Given the description of an element on the screen output the (x, y) to click on. 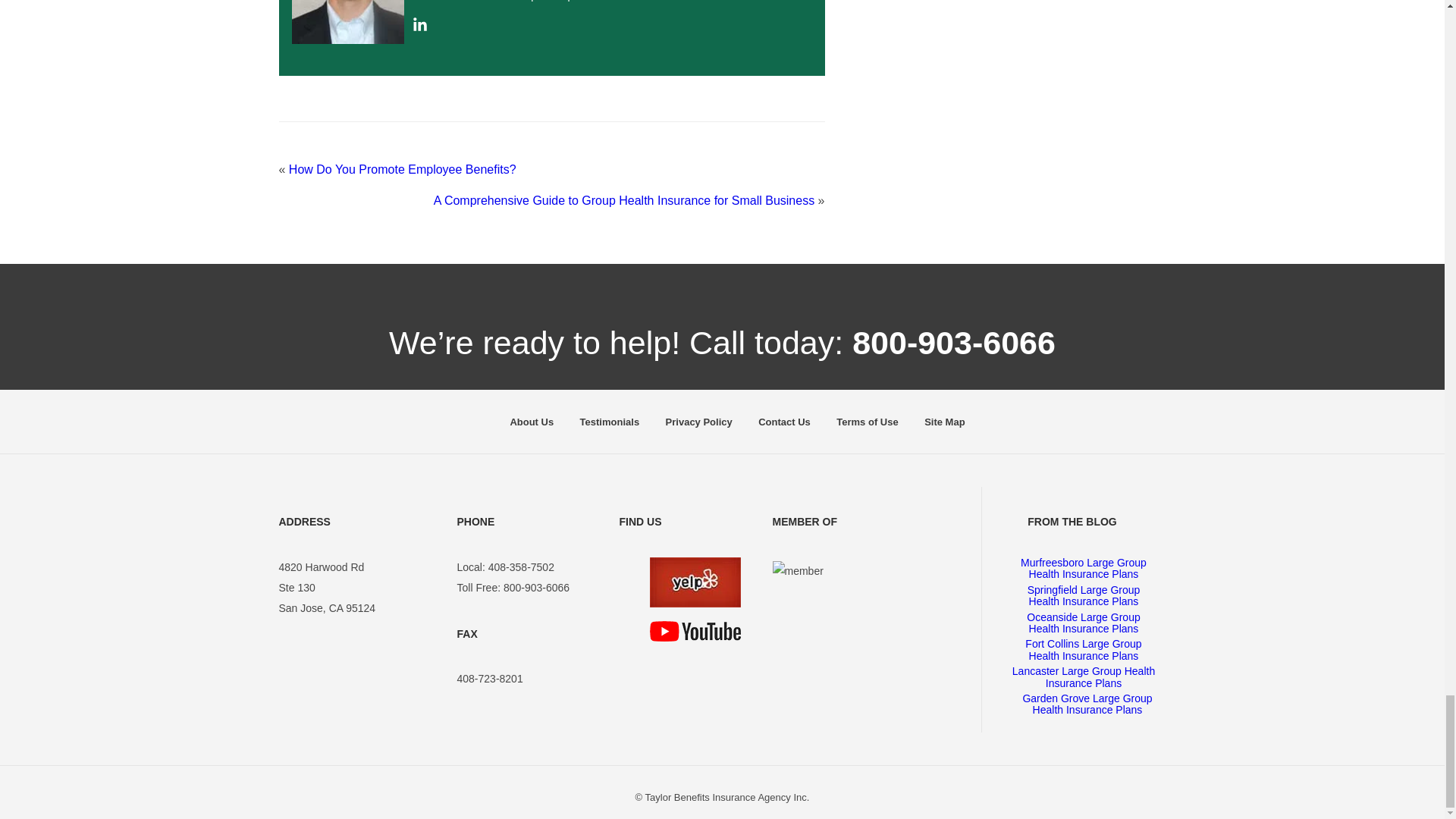
Linkedin (420, 28)
How Do You Promote Employee Benefits? (402, 169)
